Given the description of an element on the screen output the (x, y) to click on. 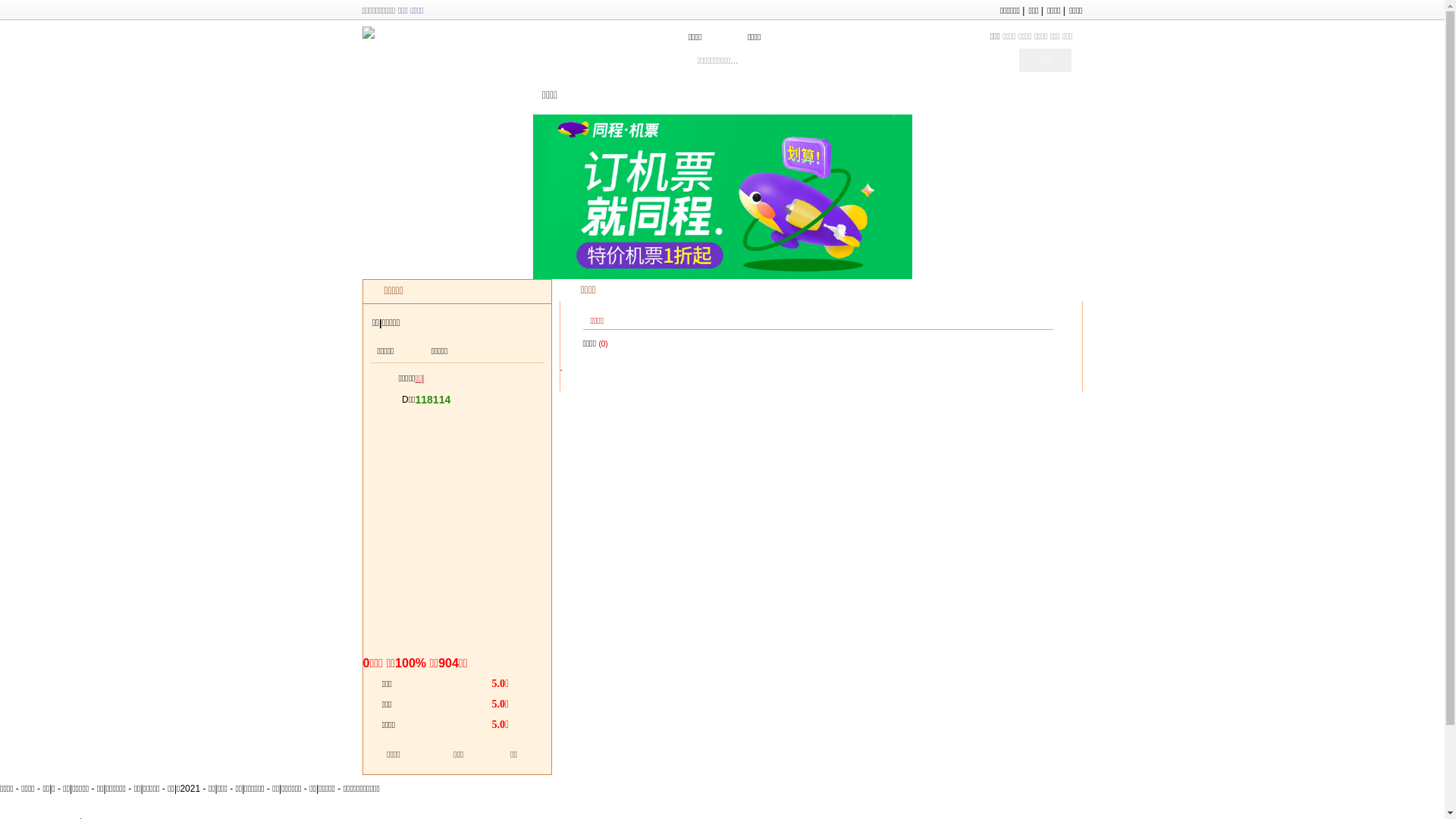
118114 Element type: text (433, 400)
